Given the description of an element on the screen output the (x, y) to click on. 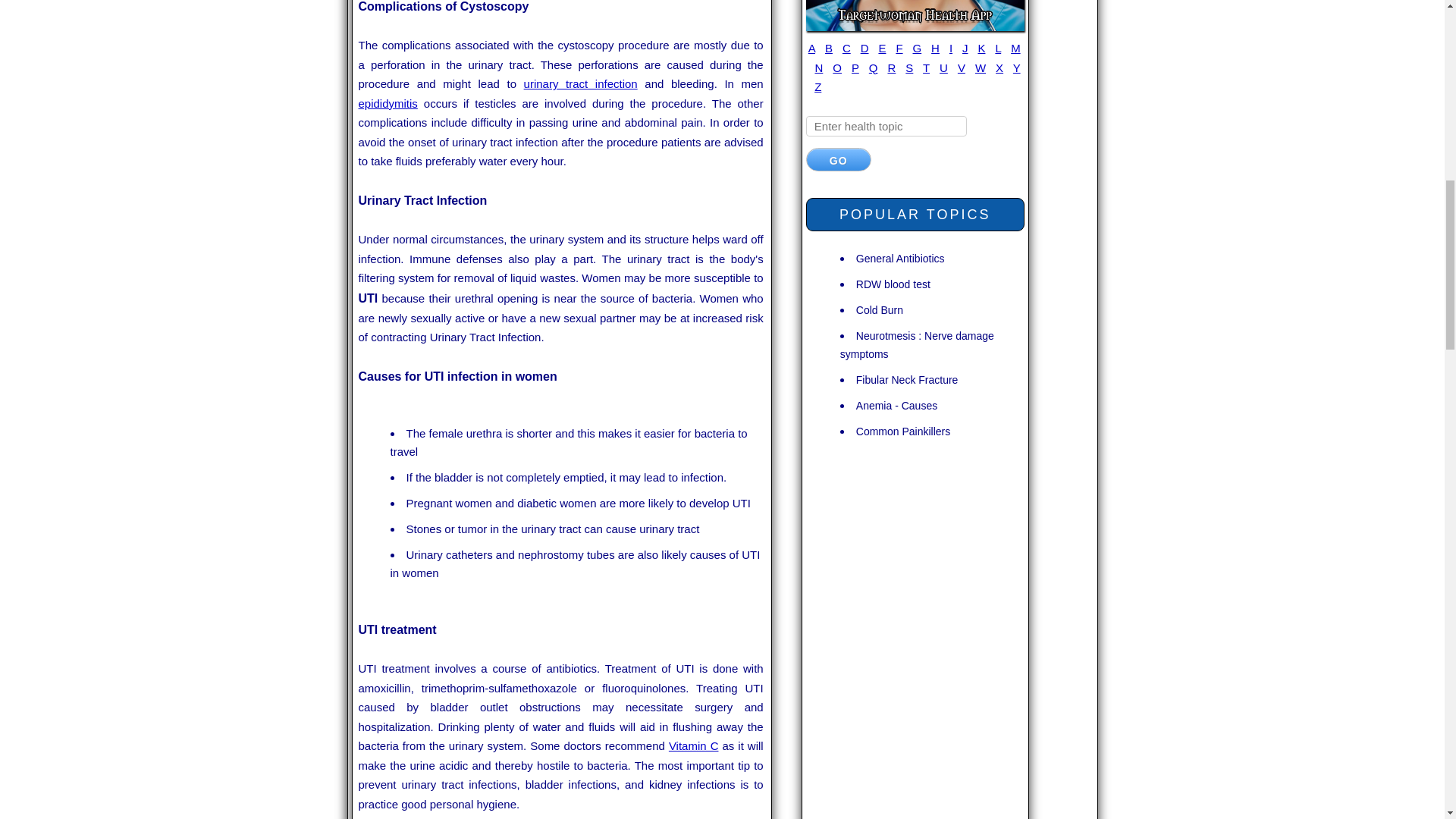
epididymitis (387, 103)
Fibular Neck Fracture (907, 379)
General Antibiotics (900, 257)
Cold Burn (879, 309)
Anemia - Causes, Types and Treatment (896, 404)
Go (838, 159)
Neurotmesis : Nerve damage symptoms (917, 344)
RDW blood test (893, 283)
Common PainKillers (903, 431)
Vitamin C (693, 745)
